Given the description of an element on the screen output the (x, y) to click on. 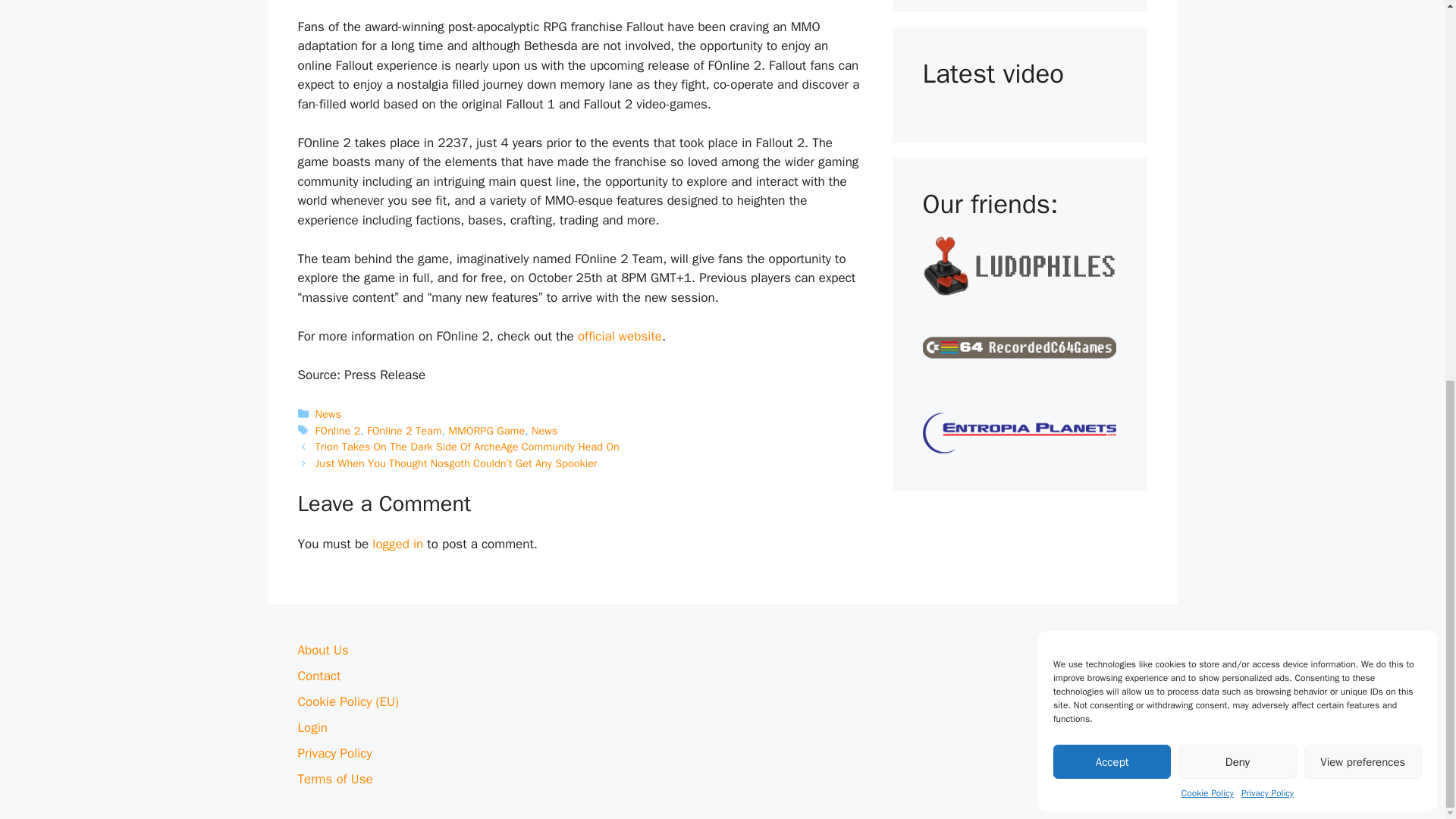
Accept (1111, 51)
View preferences (1363, 51)
FOnline 2 Website (620, 335)
Cookie Policy (1206, 83)
Privacy Policy (1267, 83)
Deny (1236, 51)
